Given the description of an element on the screen output the (x, y) to click on. 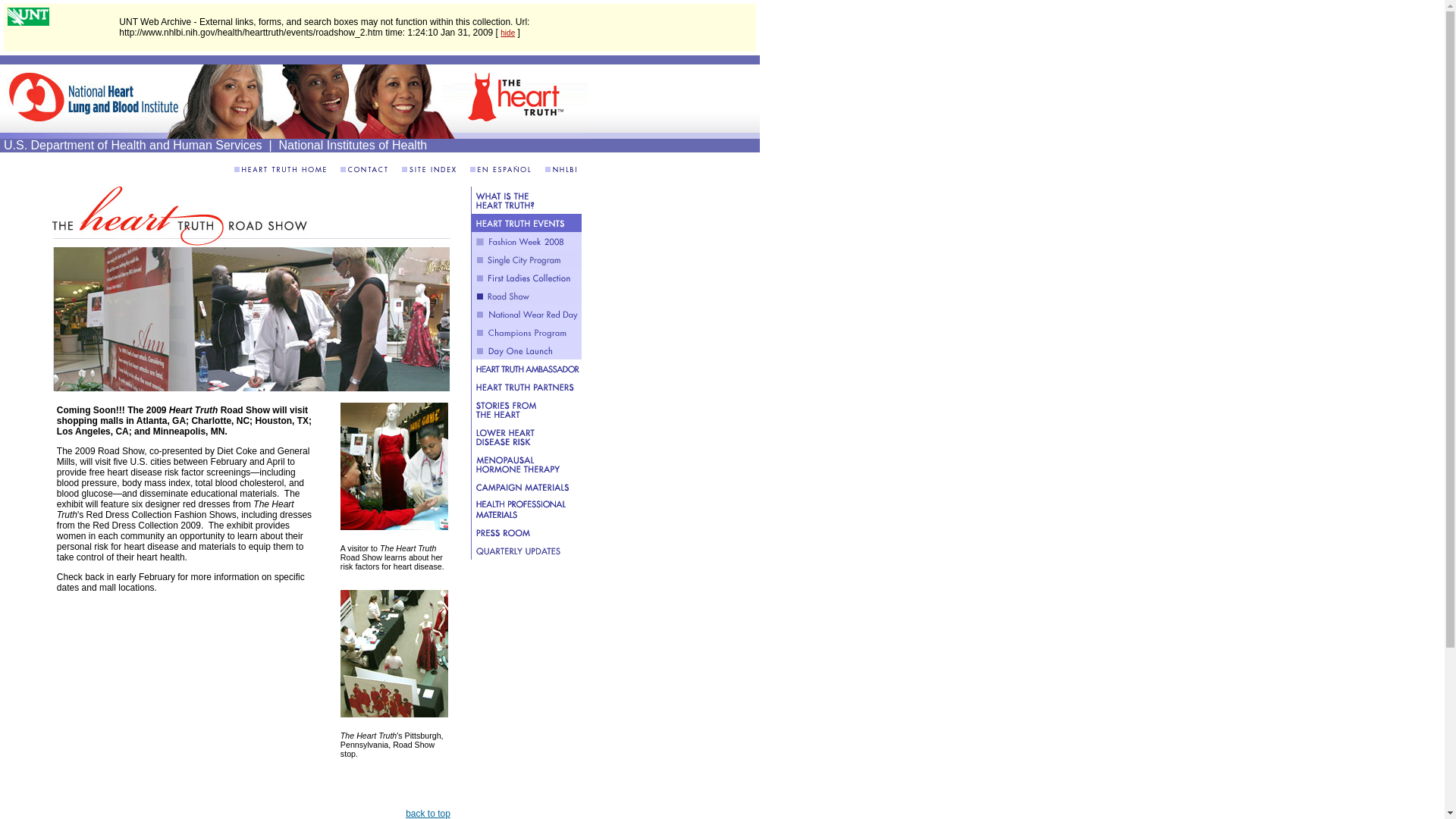
U.S. Department of Health and Human Services (133, 144)
hide (507, 32)
National Institutes of Health (353, 144)
back to top (427, 813)
